Given the description of an element on the screen output the (x, y) to click on. 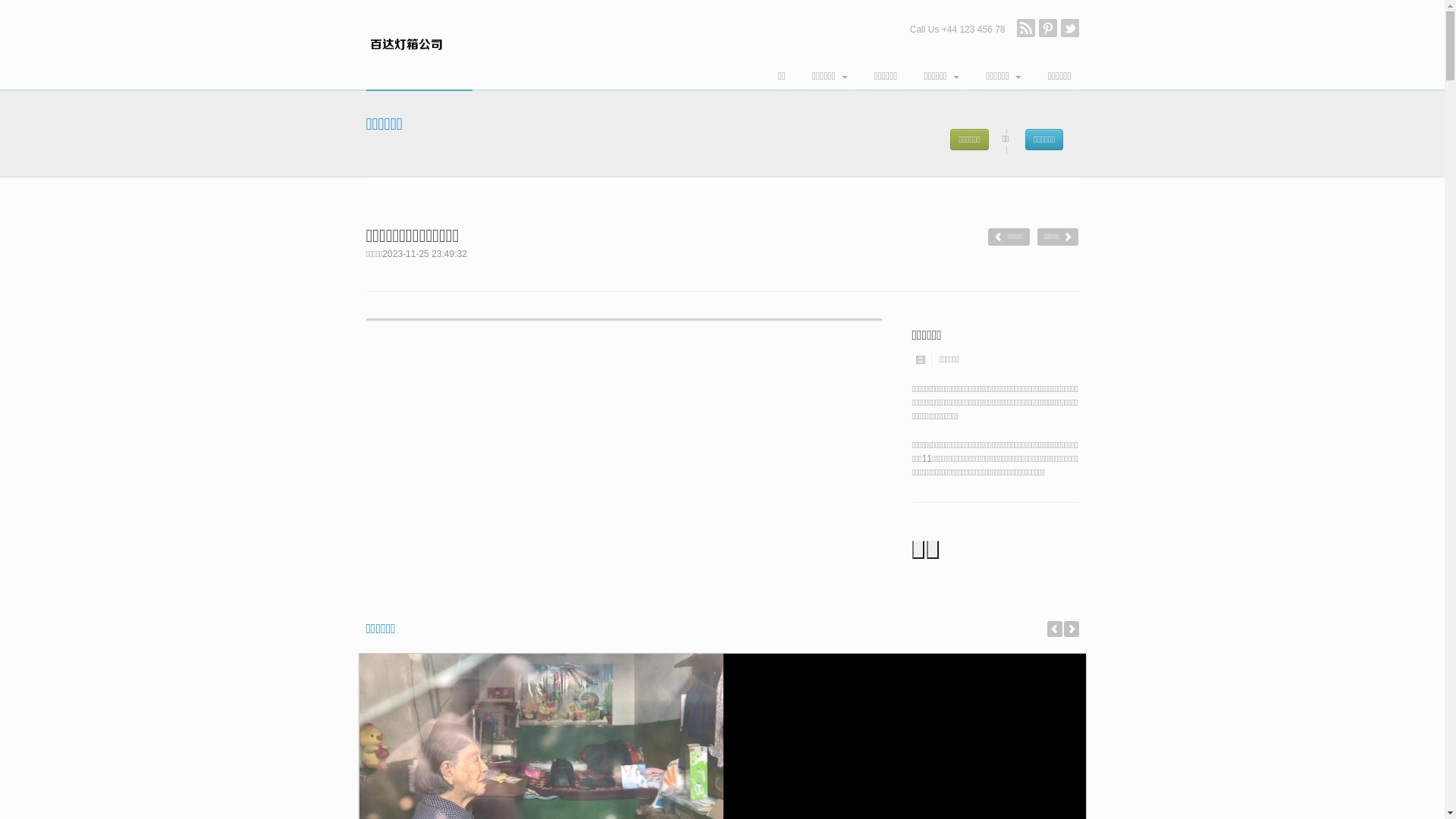
Get RSS Feed Element type: hover (1025, 27)
Follow Us Element type: hover (1069, 27)
Home Element type: hover (418, 45)
Quick Email Element type: hover (1047, 27)
